Given the description of an element on the screen output the (x, y) to click on. 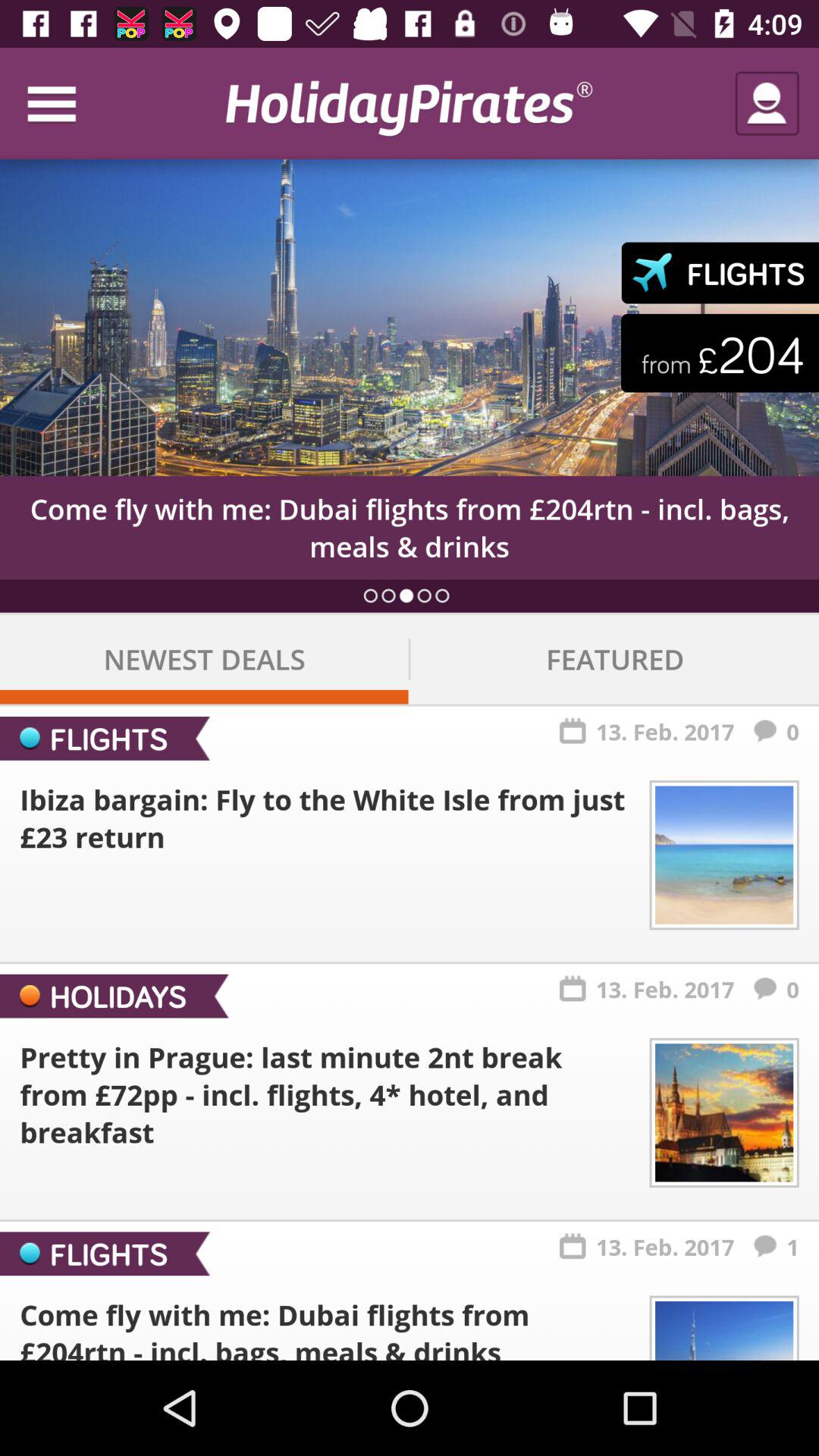
the menu icon shown at the top right (66, 103)
click the button on the top left corner of the web page (66, 103)
click on featured (615, 659)
